Given the description of an element on the screen output the (x, y) to click on. 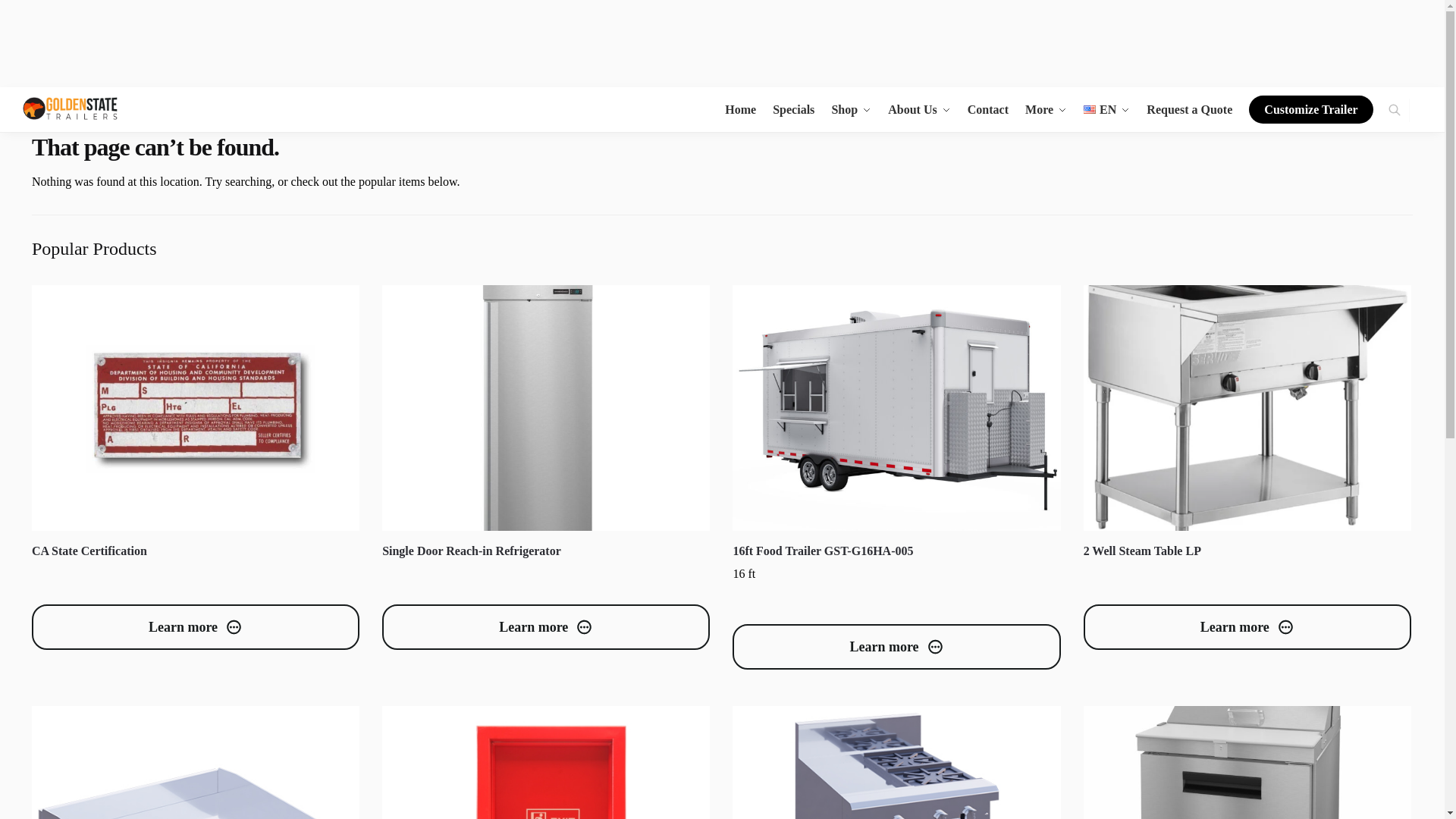
Single Door Reach-in Refrigerator (545, 407)
Emergency Exit Door (545, 762)
16ft Food Trailer GST-G16HA-005 (895, 407)
2 Well Steam Table LP (1246, 407)
Specials (793, 109)
Shop (851, 109)
CA State Certification (195, 407)
